Given the description of an element on the screen output the (x, y) to click on. 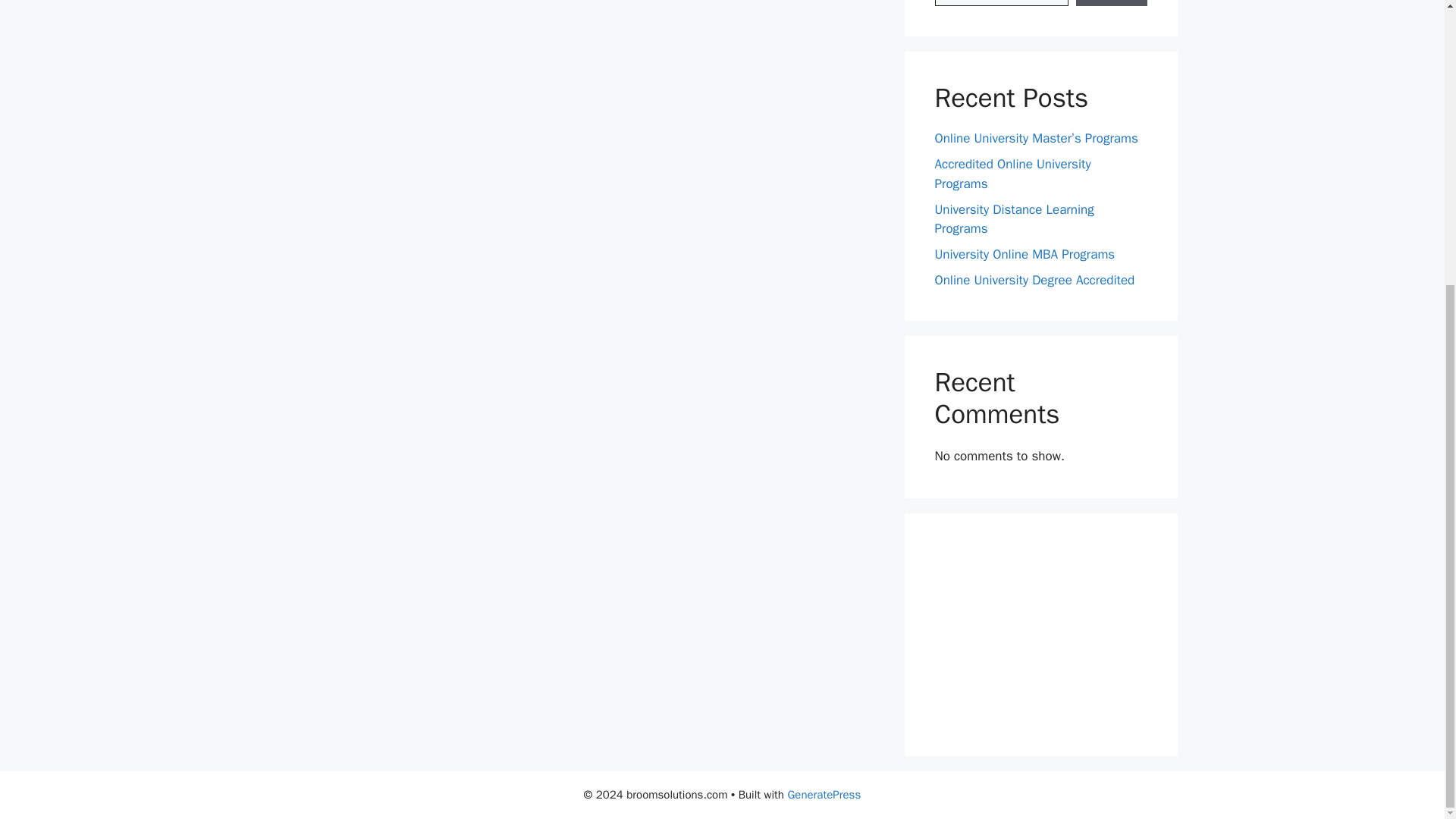
Search (1111, 3)
Accredited Online University Programs (1012, 173)
Online University Degree Accredited (1034, 279)
University Online MBA Programs (1024, 254)
GeneratePress (823, 794)
University Distance Learning Programs (1013, 218)
